Given the description of an element on the screen output the (x, y) to click on. 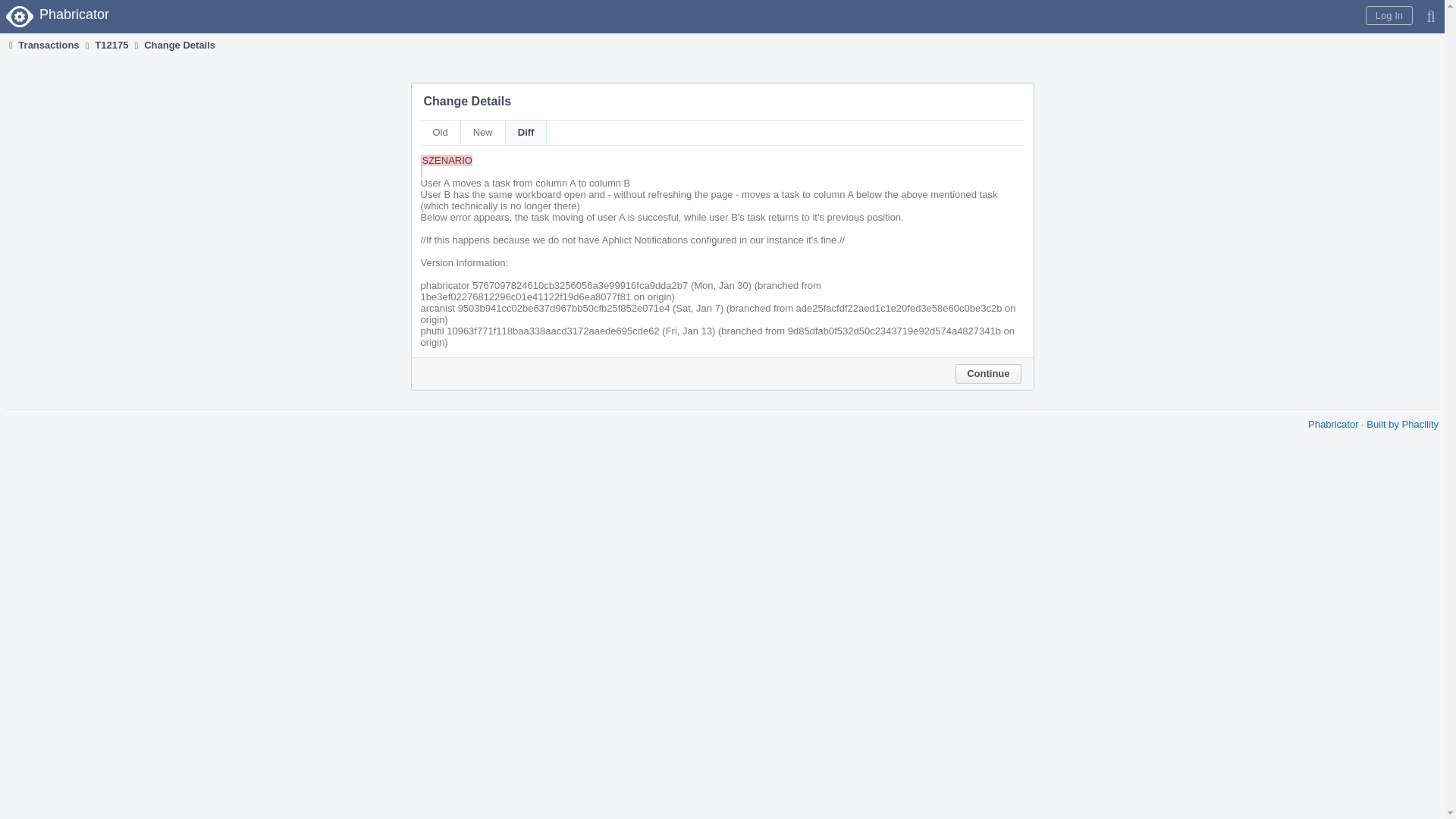
Diff (526, 132)
T12175 (111, 44)
Phabricator (58, 16)
Phabricator (1332, 423)
Continue (987, 373)
New (483, 132)
Old (440, 132)
Built by Phacility (1402, 423)
Log In (1388, 15)
